Given the description of an element on the screen output the (x, y) to click on. 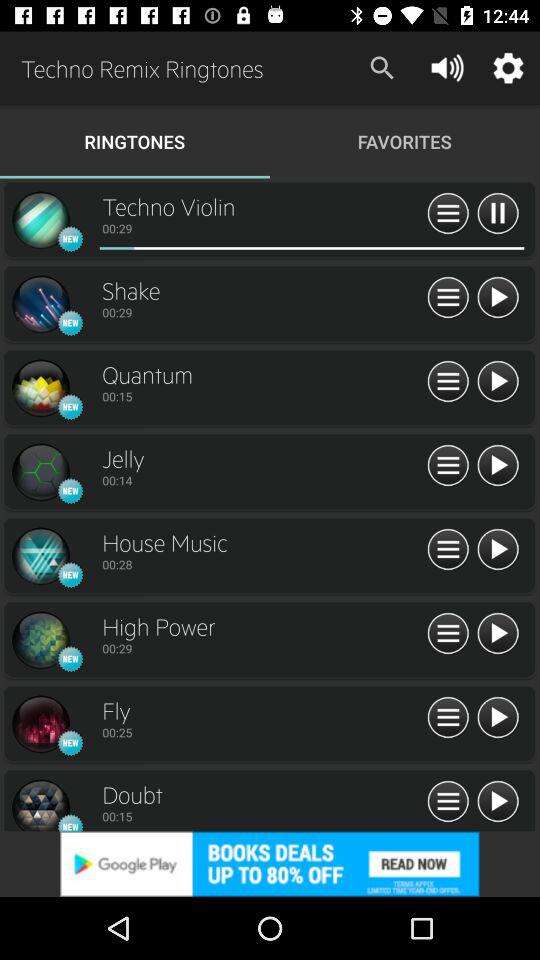
ender the manu option (447, 633)
